Given the description of an element on the screen output the (x, y) to click on. 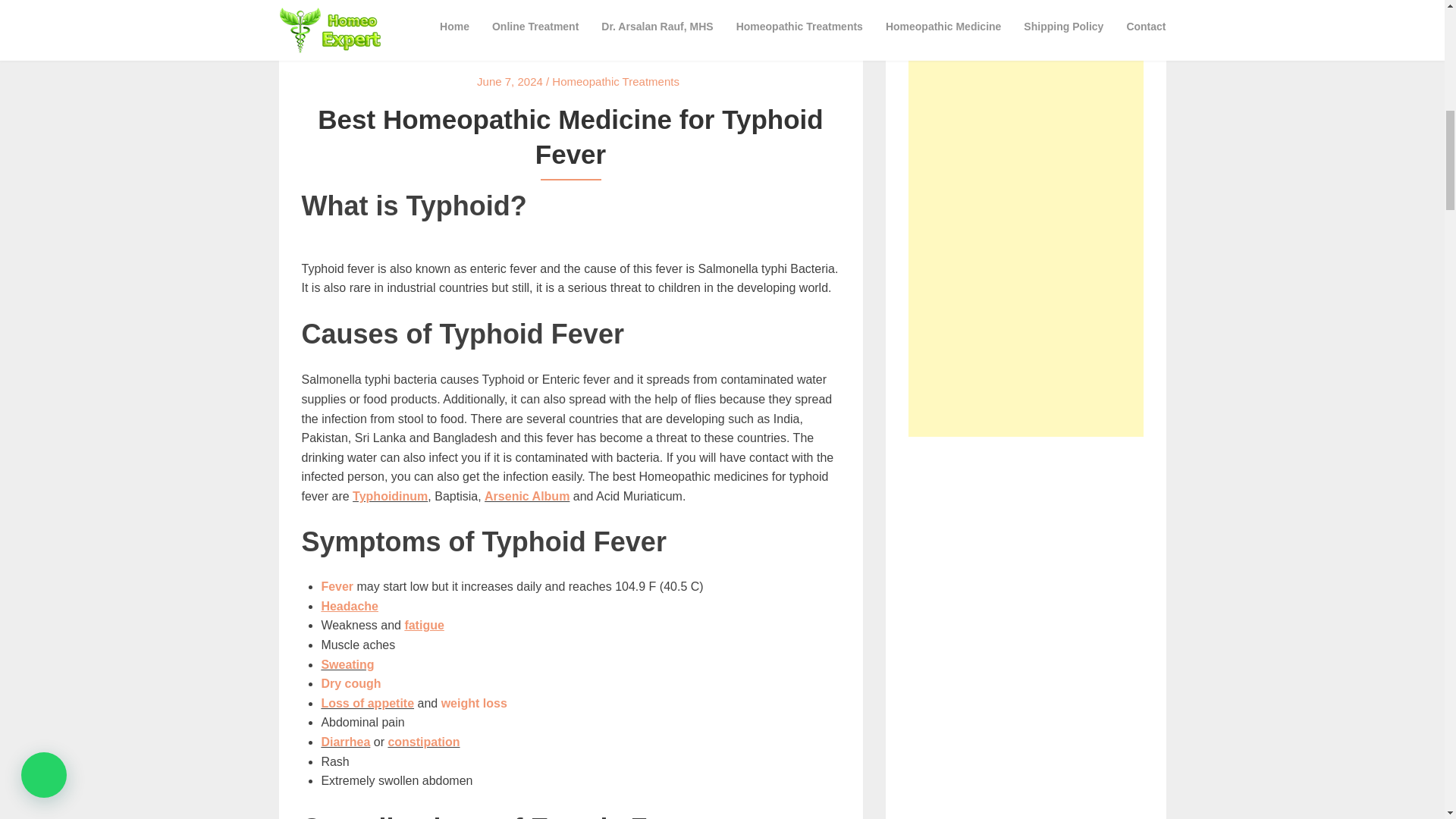
Loss of appetite (366, 703)
constipation (423, 741)
Sweating (347, 664)
Dry cough (350, 683)
fatigue (424, 625)
June 7, 2024 (510, 81)
Fever (336, 585)
Typhoidinum (390, 495)
Diarrhea (344, 741)
Headache (349, 605)
weight loss (473, 703)
Homeopathic Treatments (615, 81)
Arsenic Album (526, 495)
